Given the description of an element on the screen output the (x, y) to click on. 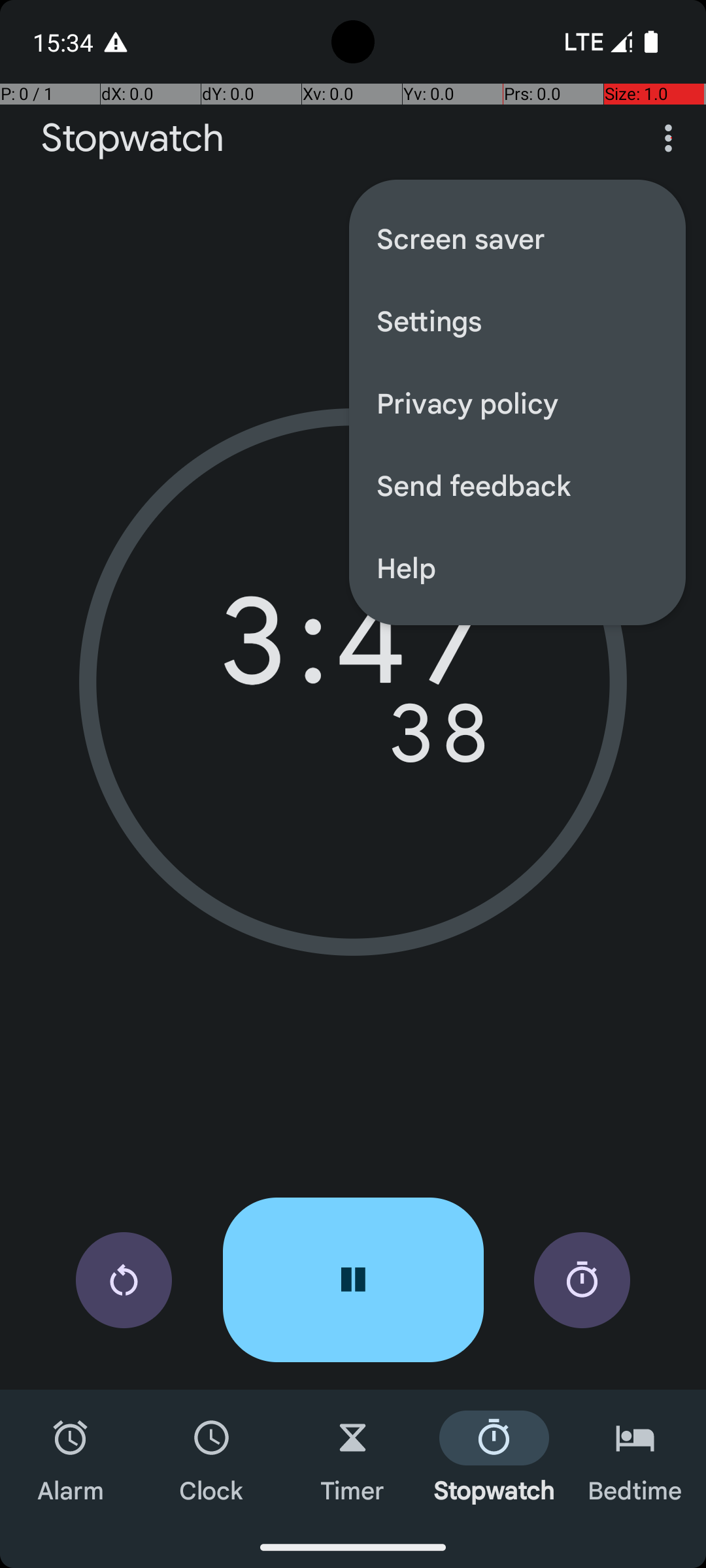
Screen saver Element type: android.widget.TextView (517, 237)
Privacy policy Element type: android.widget.TextView (517, 402)
Send feedback Element type: android.widget.TextView (517, 484)
Help Element type: android.widget.TextView (517, 566)
